Given the description of an element on the screen output the (x, y) to click on. 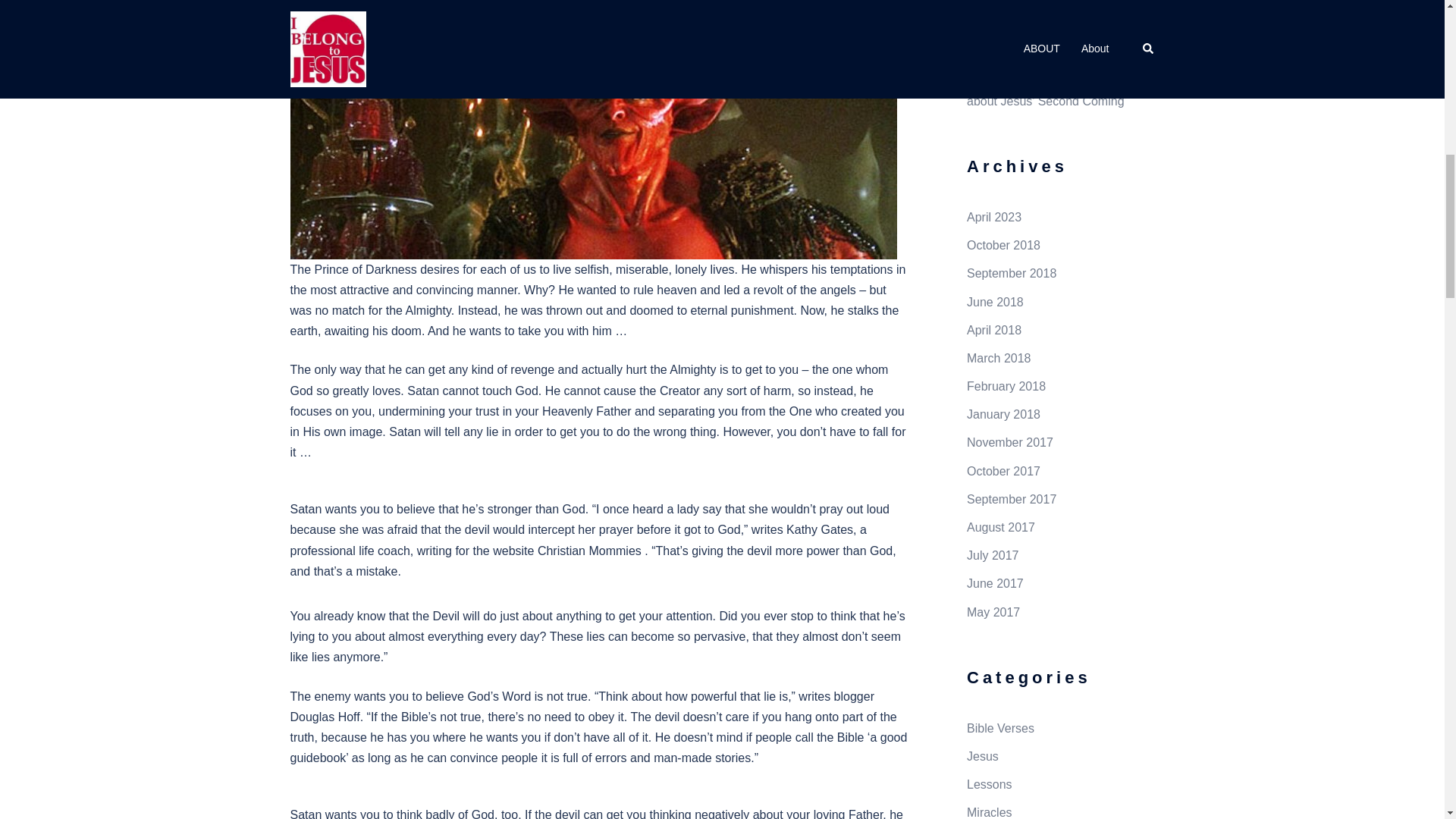
6 Ways the Miracles of Jesus can Change Your Life Today (1045, 31)
